Given the description of an element on the screen output the (x, y) to click on. 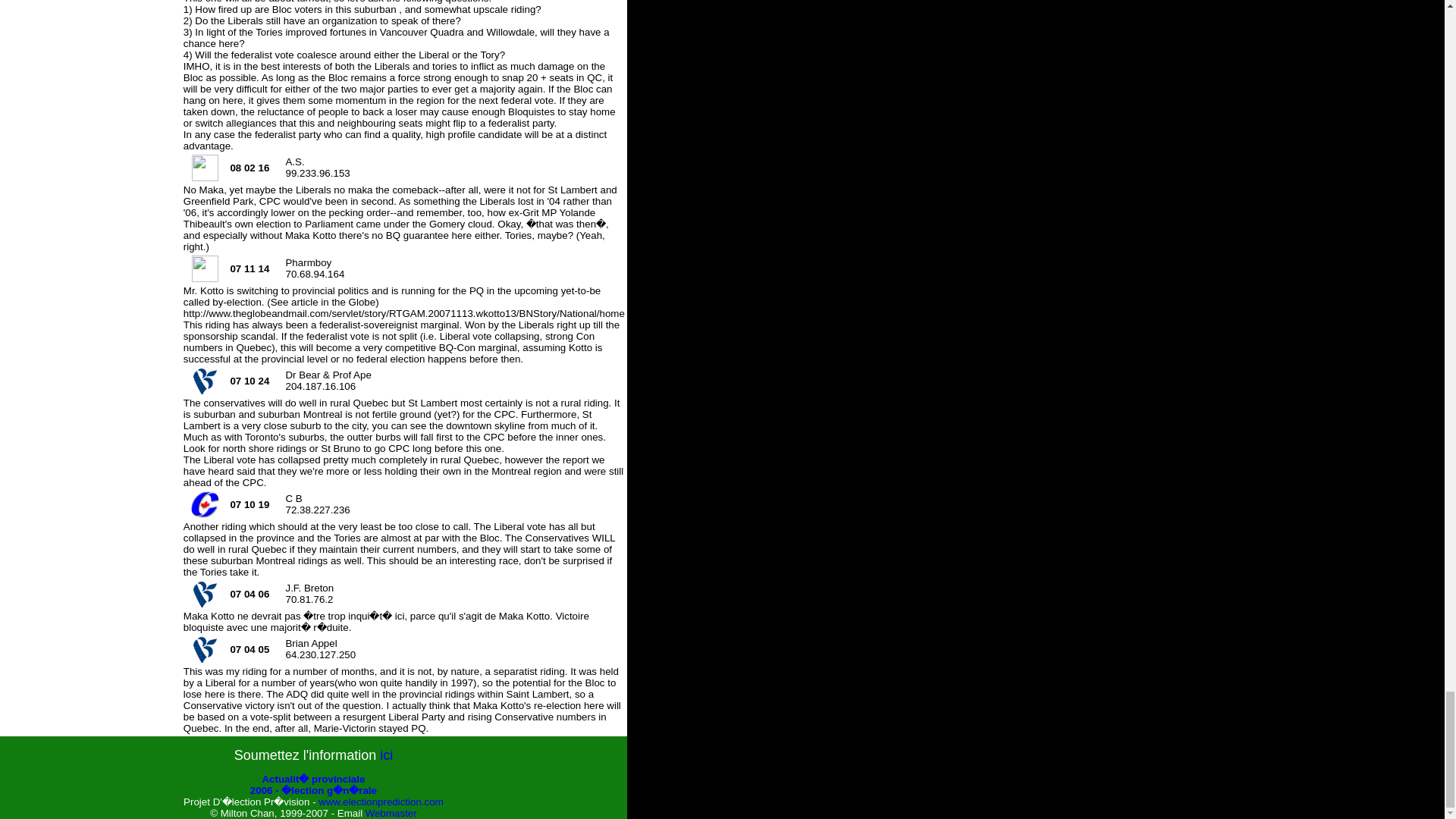
www.electionprediction.com (380, 801)
